Given the description of an element on the screen output the (x, y) to click on. 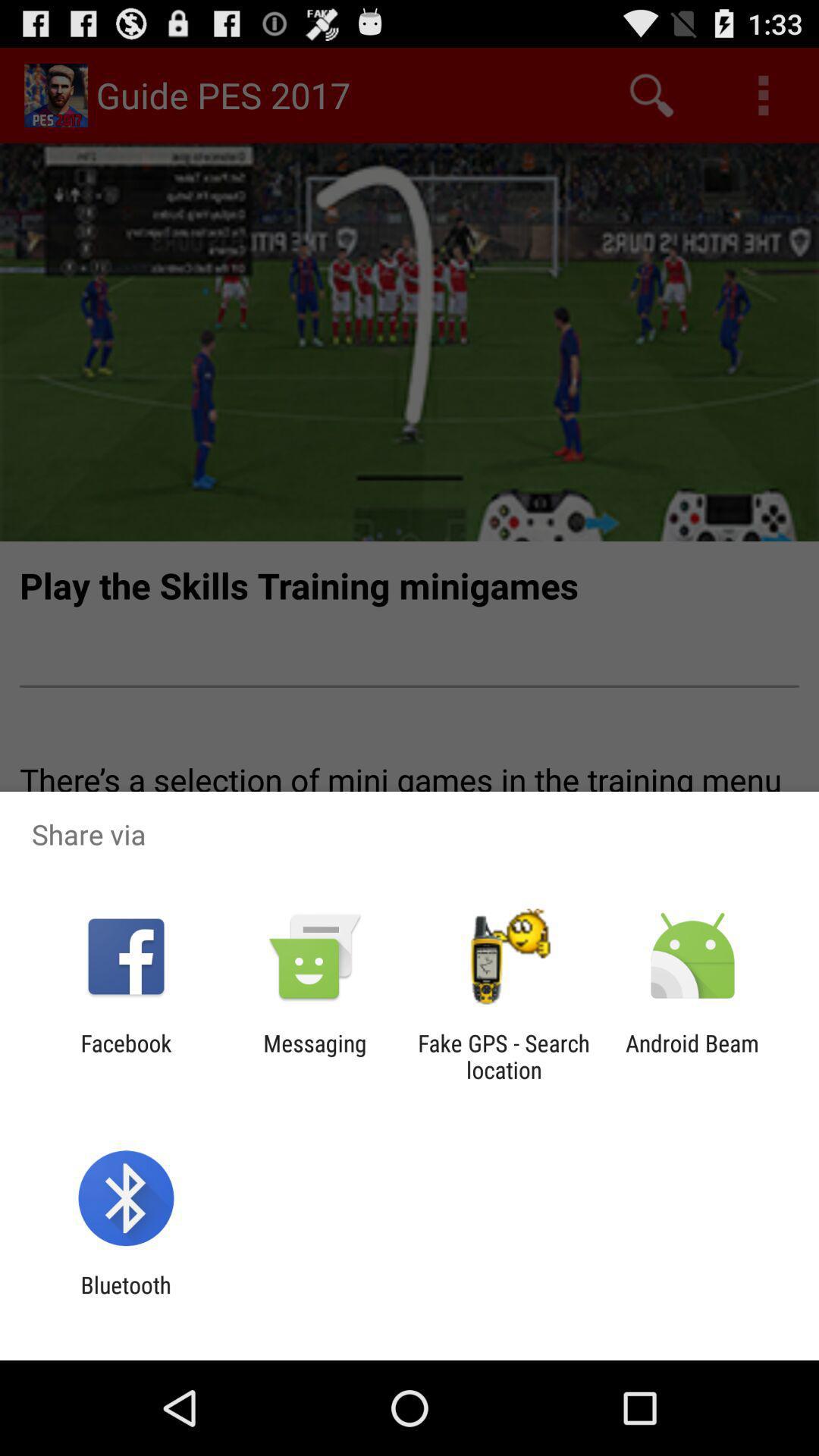
choose android beam (692, 1056)
